Given the description of an element on the screen output the (x, y) to click on. 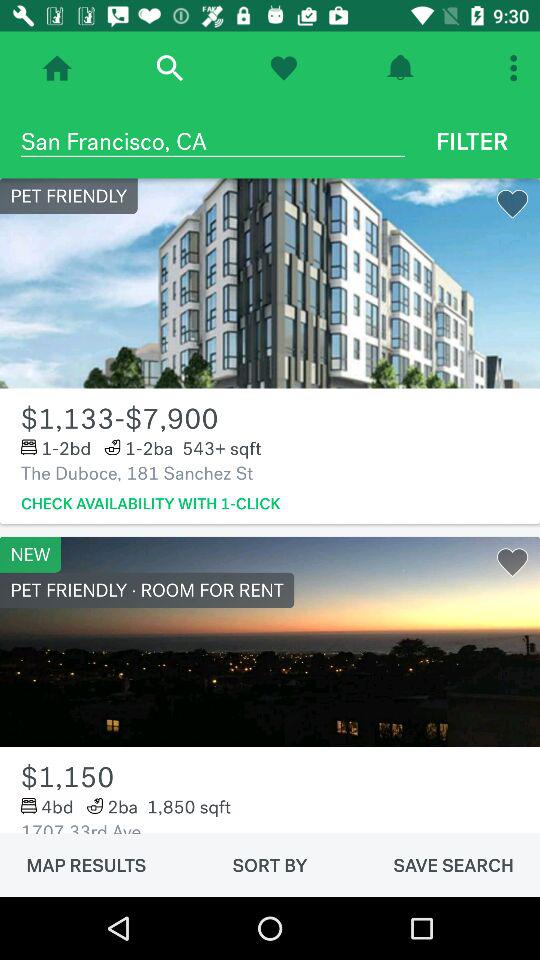
scroll to the sort by (269, 865)
